Given the description of an element on the screen output the (x, y) to click on. 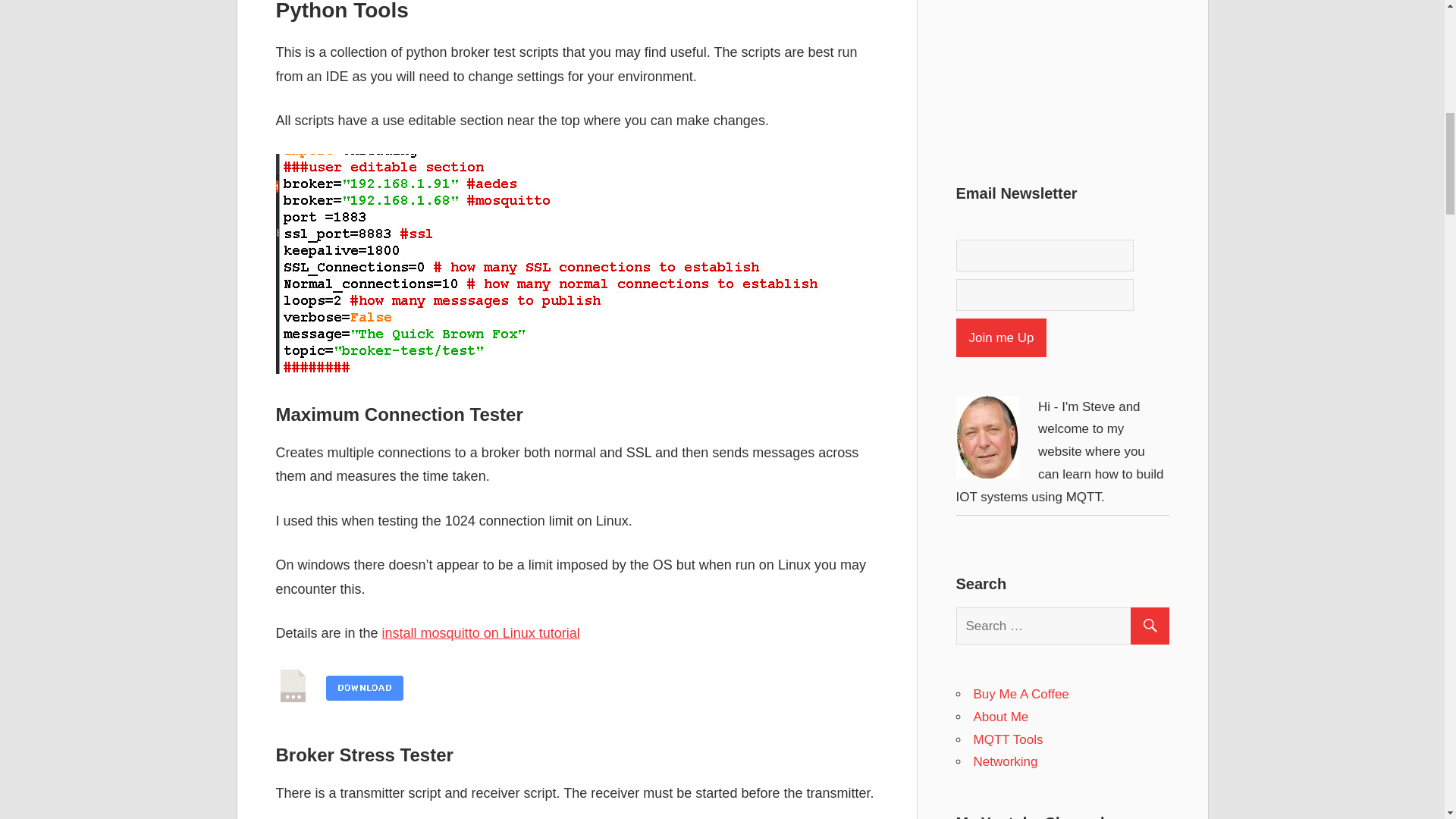
install mosquitto on Linux tutorial (480, 632)
Join me Up (1000, 337)
Search for: (1068, 625)
MQTT Tools and Resources (1008, 739)
